Given the description of an element on the screen output the (x, y) to click on. 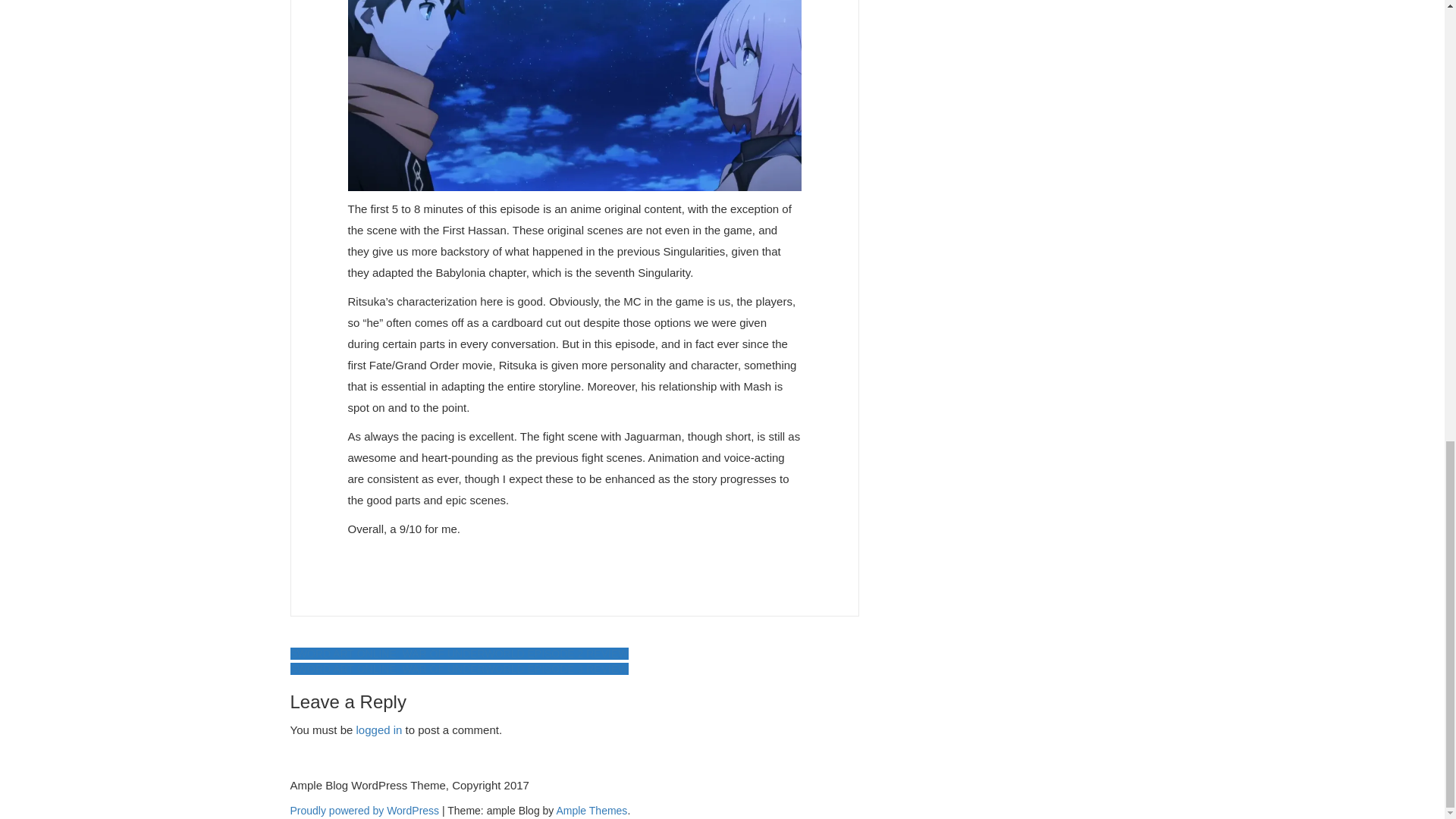
SWORD ART ONLINE: WAR OF UNDERWORLD EPISODE 2 REVIEW (458, 653)
logged in (379, 729)
SWORD ART ONLINE: WAR OF UNDERWORLD EPISODE 3 REVIEW (458, 668)
